Given the description of an element on the screen output the (x, y) to click on. 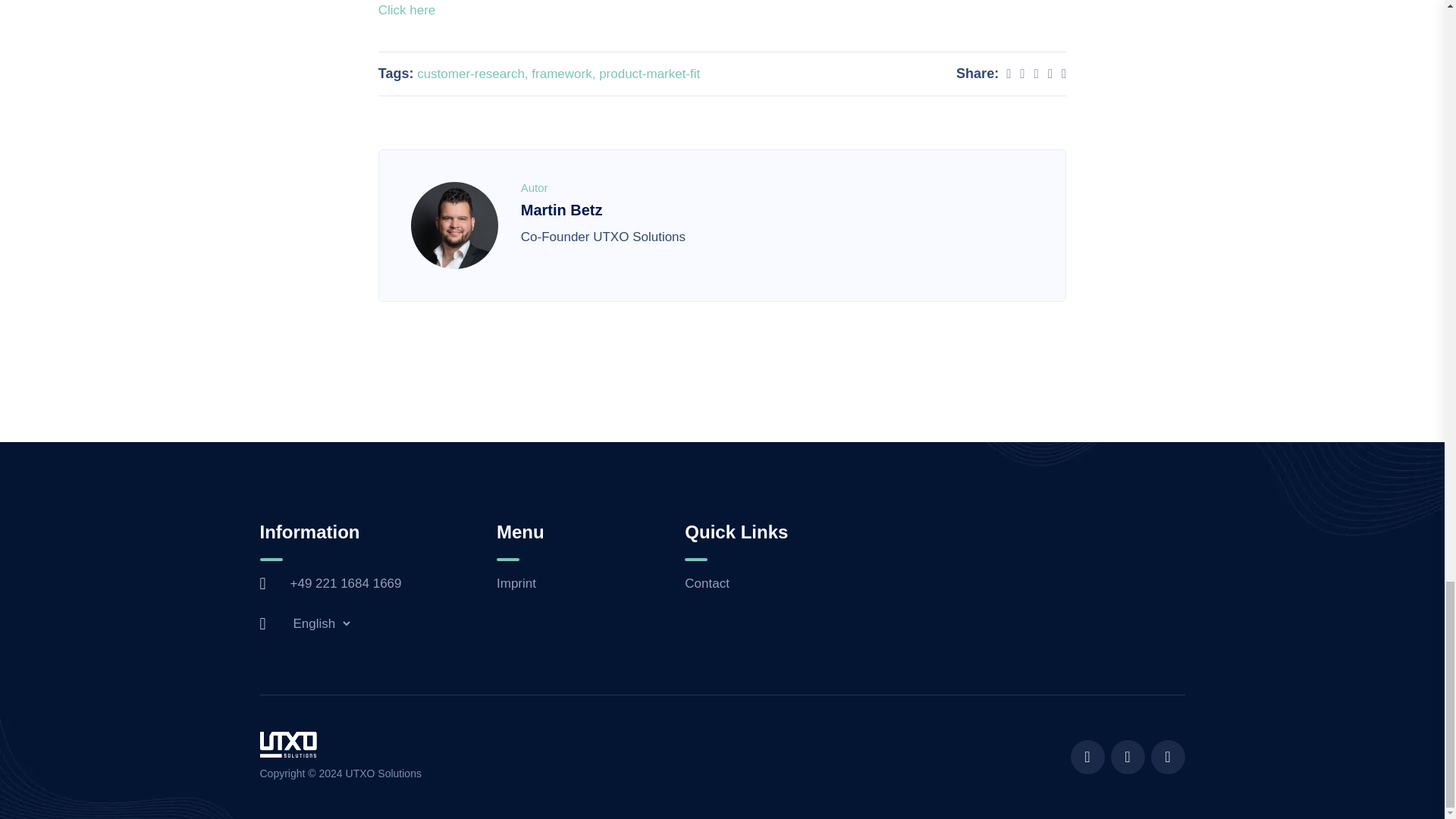
product-market-fit (649, 73)
framework, (564, 73)
customer-research, (473, 73)
Click here (406, 10)
